Given the description of an element on the screen output the (x, y) to click on. 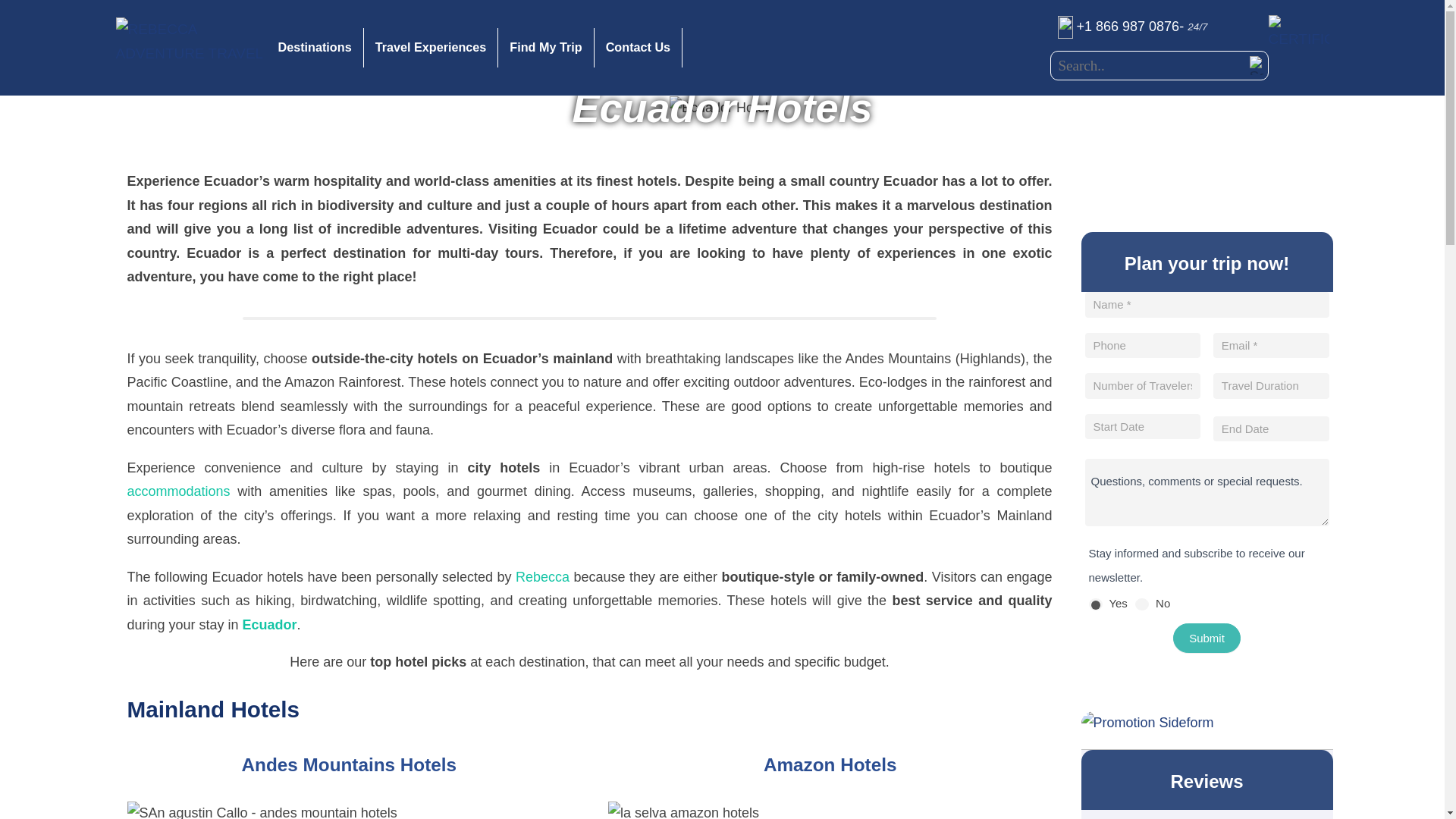
Rebecca information page (542, 575)
Ecuador Highlights Tours (270, 624)
Yes (1095, 604)
No (1141, 604)
Why book with Us (1297, 32)
